Given the description of an element on the screen output the (x, y) to click on. 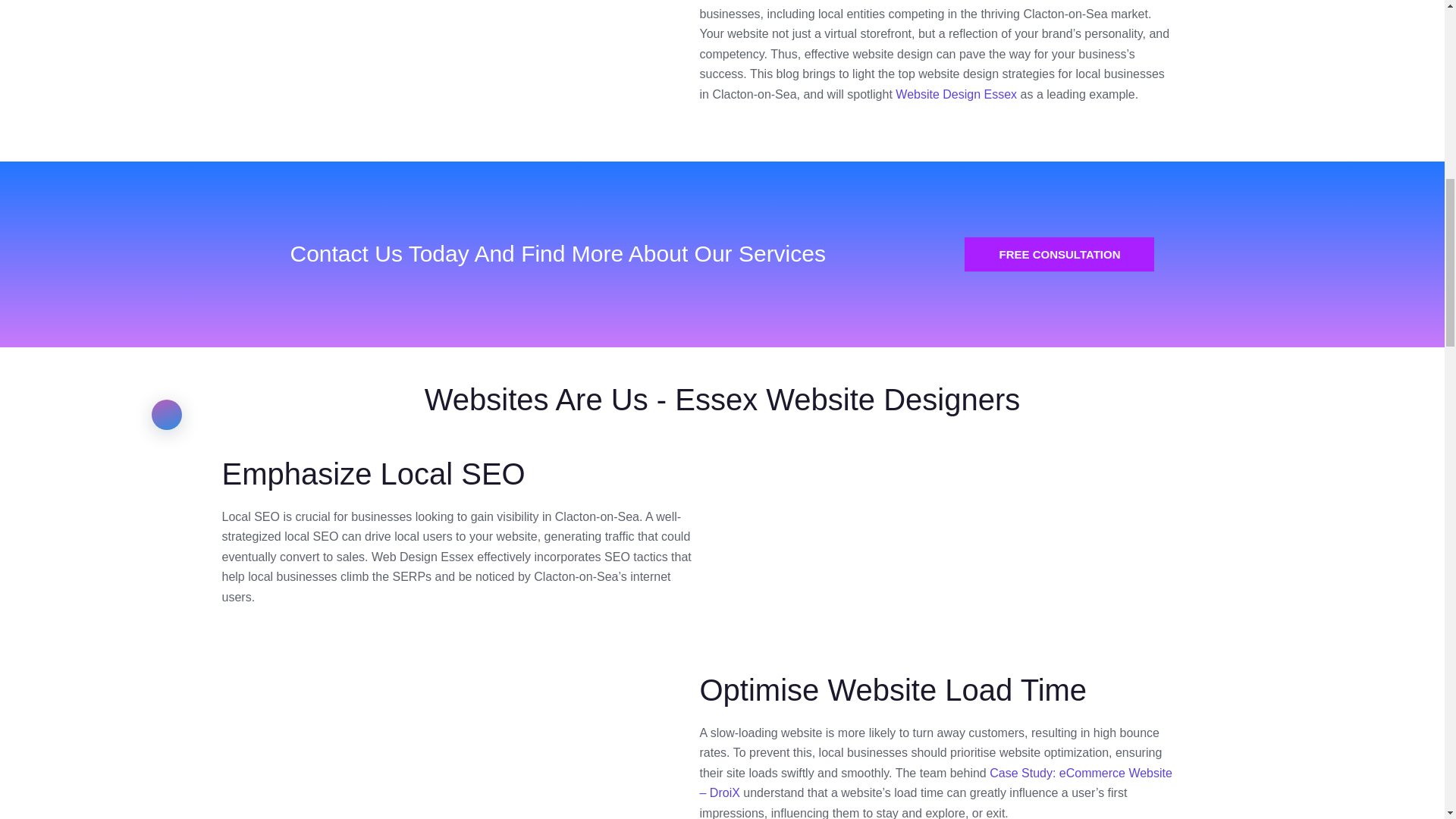
Website Design Essex (955, 93)
FREE CONSULTATION (1058, 254)
